Given the description of an element on the screen output the (x, y) to click on. 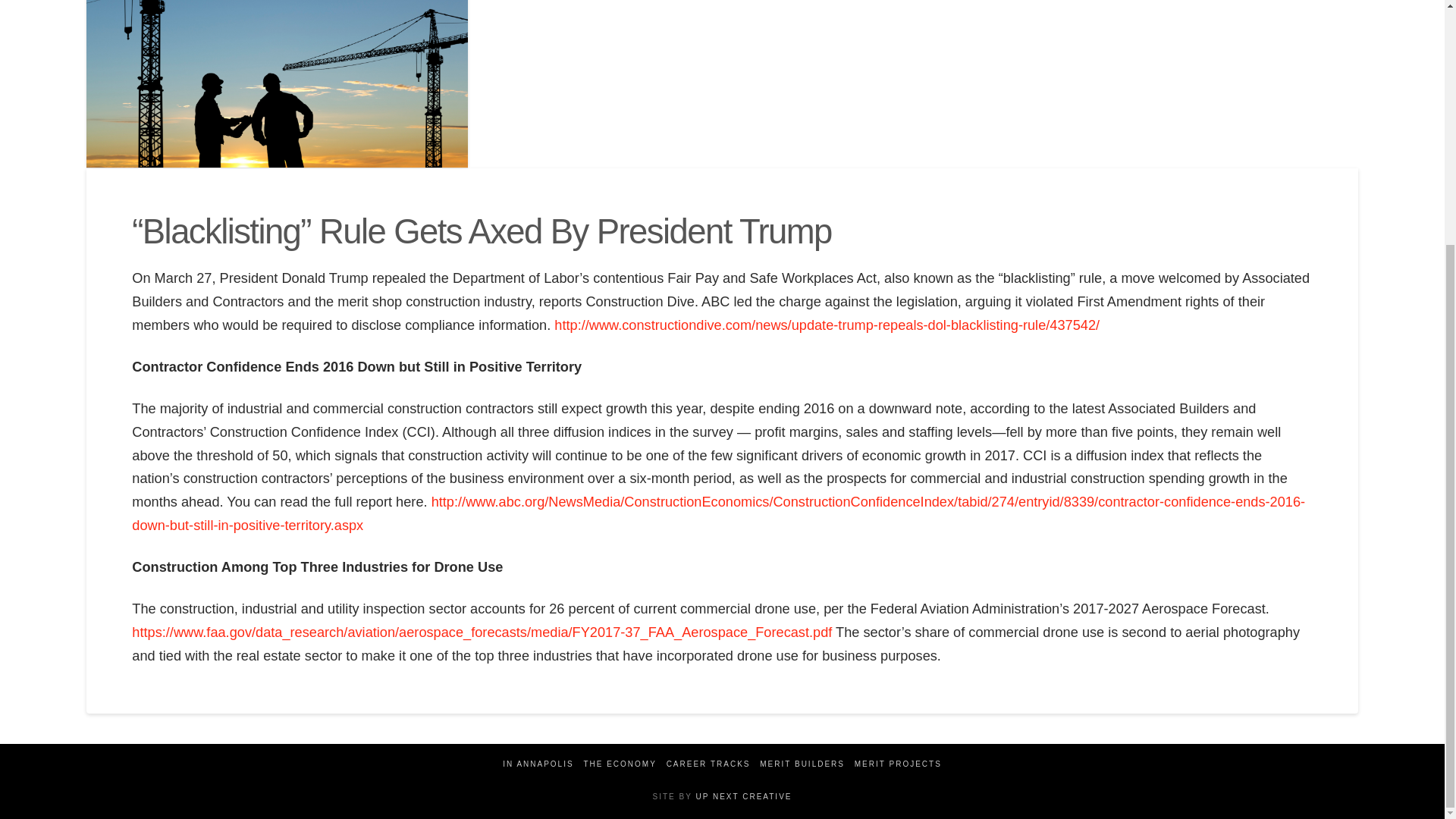
UP NEXT CREATIVE (743, 796)
CAREER TRACKS (708, 764)
MERIT BUILDERS (802, 764)
MERIT PROJECTS (898, 764)
THE ECONOMY (619, 764)
IN ANNAPOLIS (537, 764)
